Given the description of an element on the screen output the (x, y) to click on. 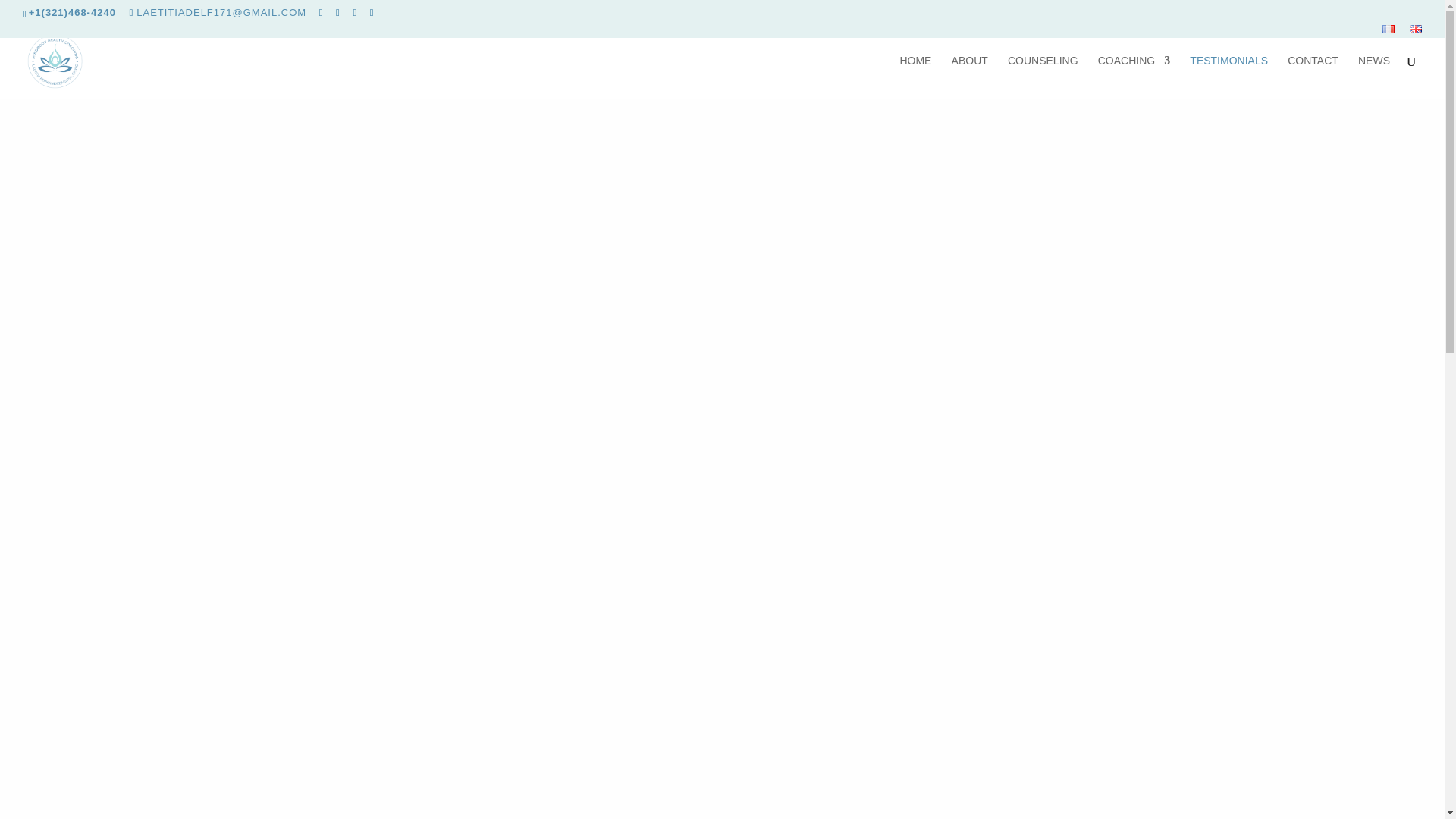
TESTIMONIALS (1228, 76)
BOOK YOUR CLARITY CALL (1019, 414)
COUNSELING (1042, 76)
COACHING (1133, 76)
female-freepikdiller-dandelion-stand (722, 266)
CONTACT (1312, 76)
